Given the description of an element on the screen output the (x, y) to click on. 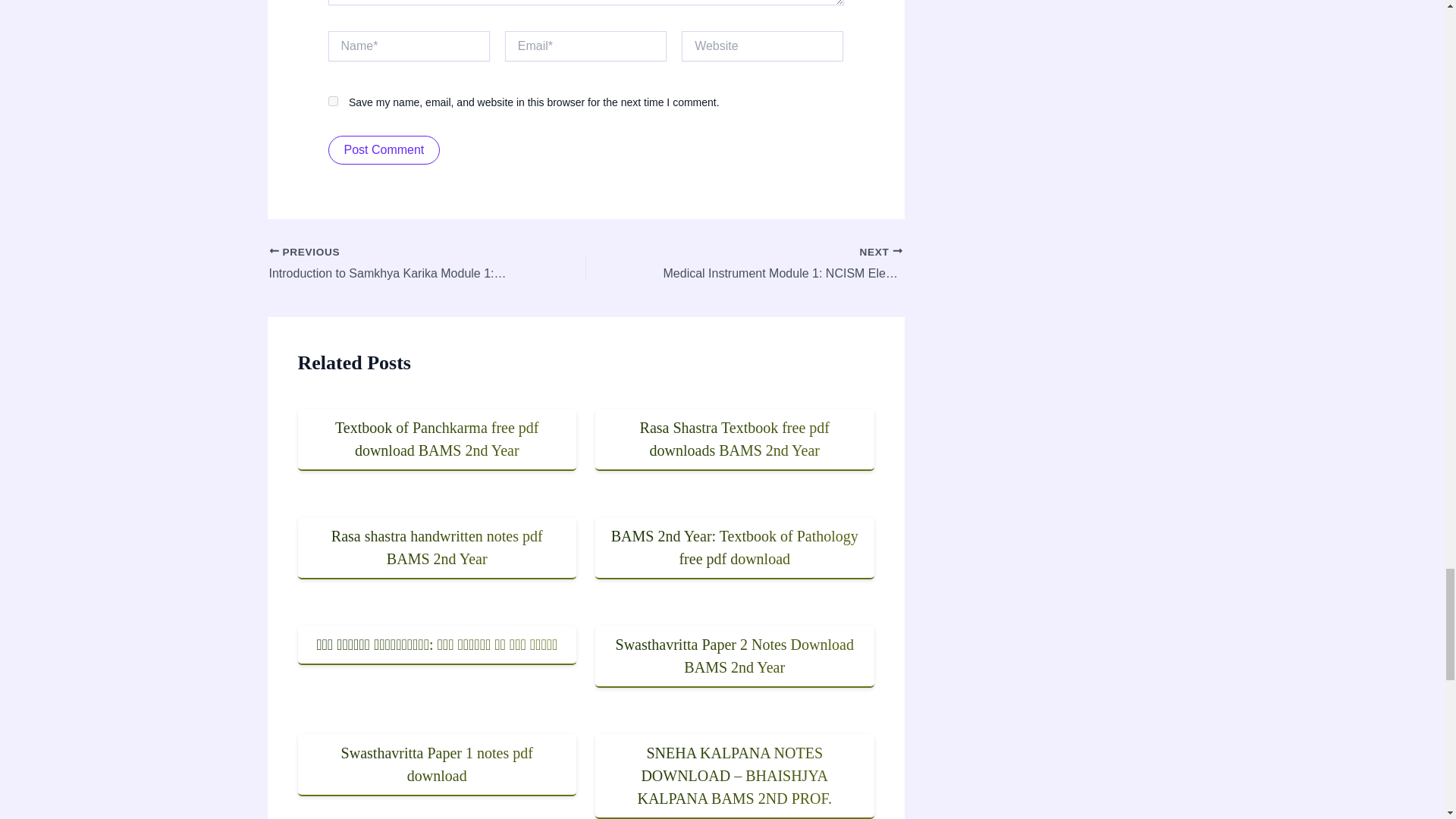
Medical Instrument Module 1: NCISM Elective Course 2024 (774, 264)
Post Comment (383, 149)
yes (332, 101)
